Given the description of an element on the screen output the (x, y) to click on. 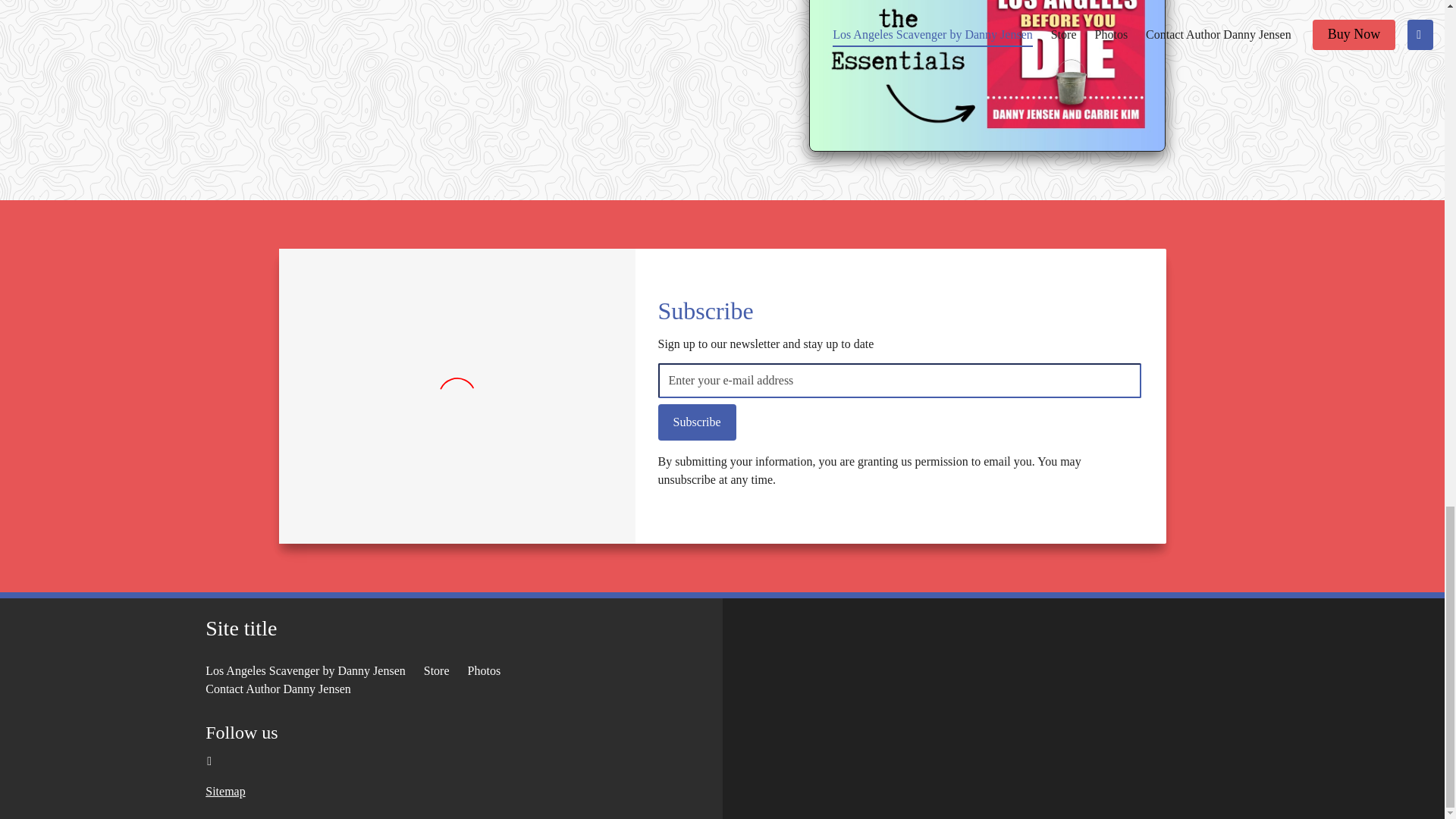
Subscribe (697, 422)
Contact Author Danny Jensen (277, 688)
Los Angeles Scavenger by Danny Jensen (305, 670)
Photos (483, 670)
Sitemap (224, 791)
Store (436, 670)
